Given the description of an element on the screen output the (x, y) to click on. 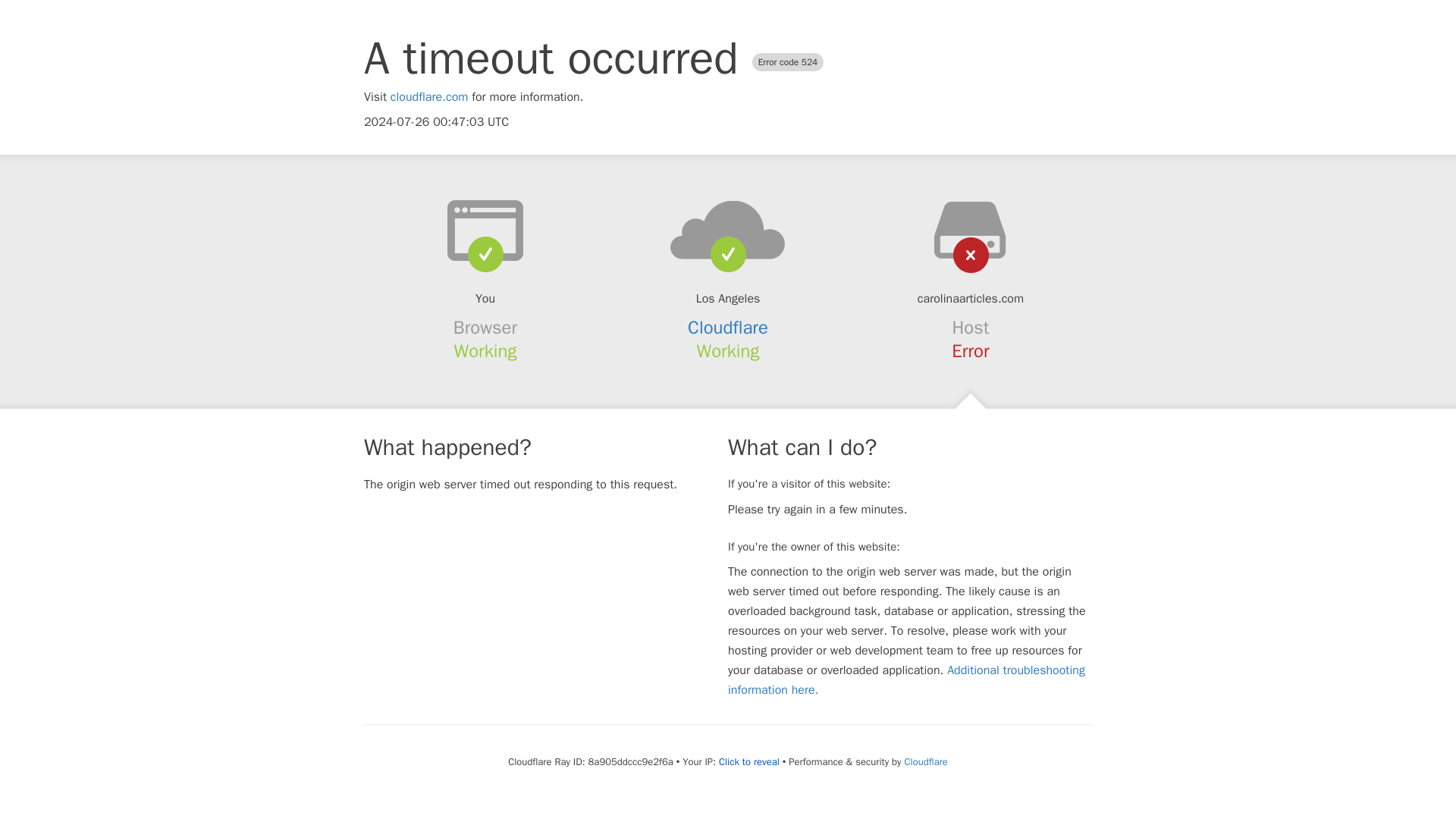
Cloudflare (727, 327)
cloudflare.com (429, 96)
Additional troubleshooting information here. (906, 679)
Cloudflare (925, 761)
Click to reveal (748, 762)
